Given the description of an element on the screen output the (x, y) to click on. 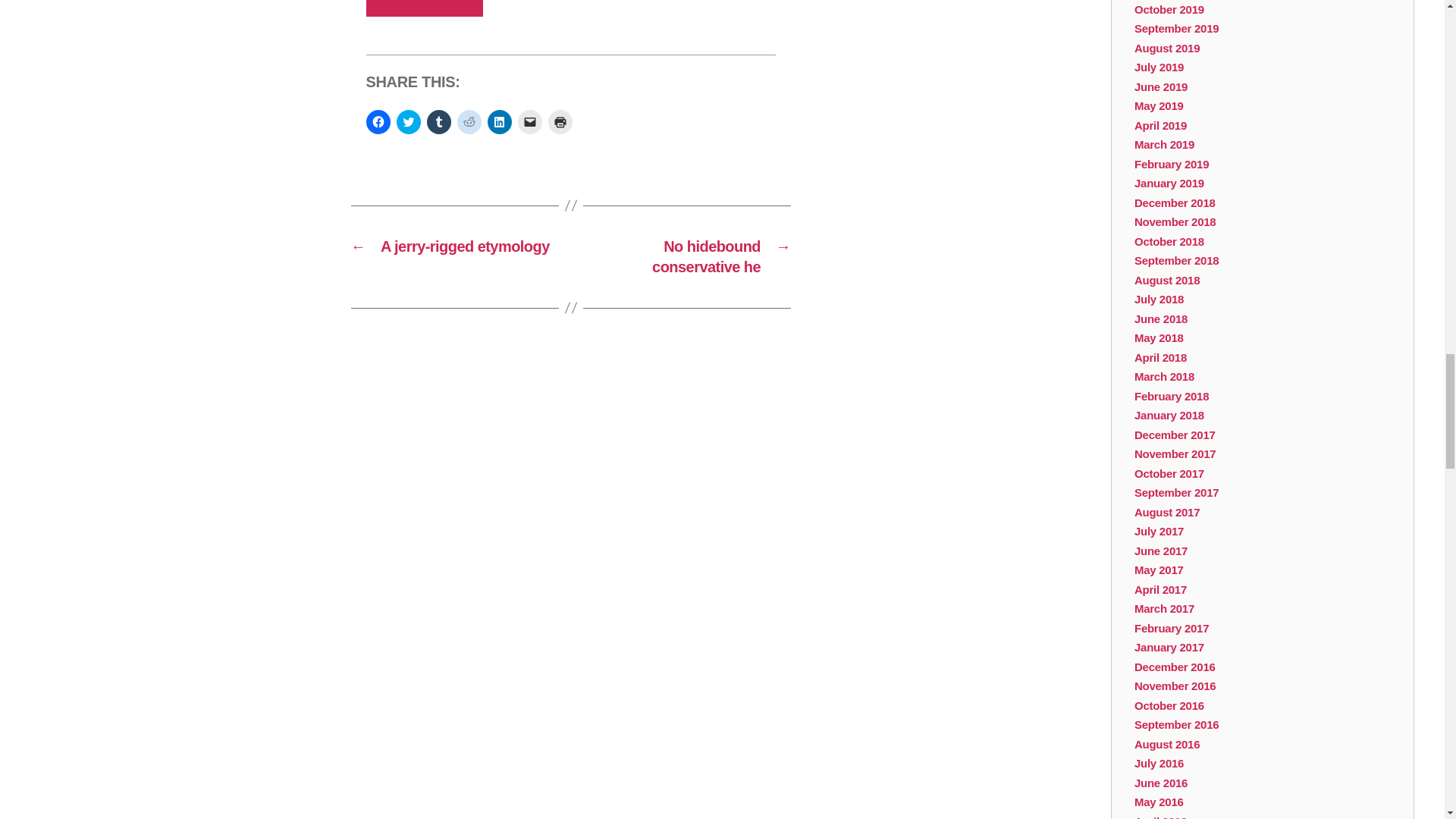
Click to share on Facebook (377, 121)
Click to email a link to a friend (528, 121)
Click to print (559, 121)
Click to share on Tumblr (437, 121)
Click to share on Reddit (468, 121)
Click to share on LinkedIn (498, 121)
Click to share on Twitter (408, 121)
